Given the description of an element on the screen output the (x, y) to click on. 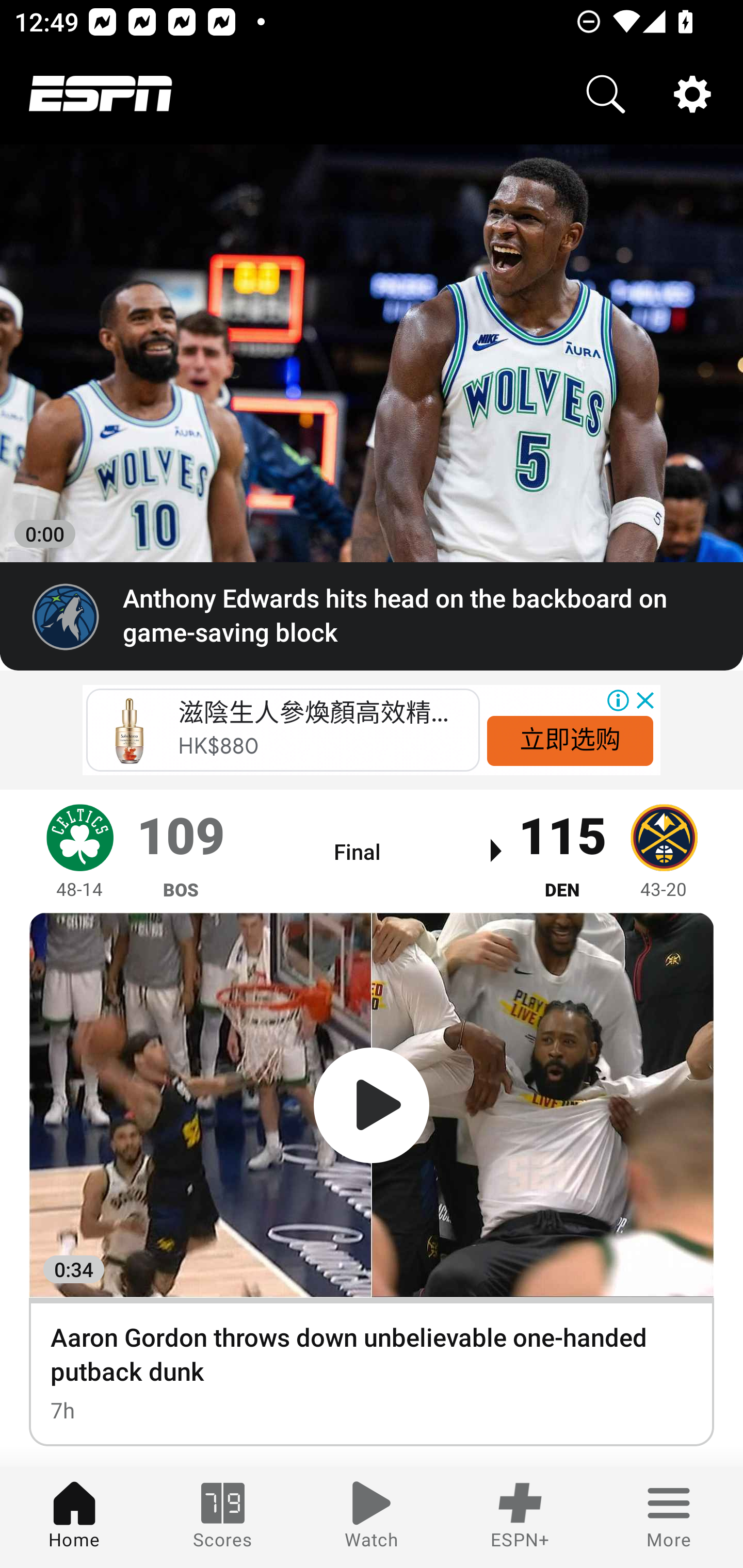
Search (605, 93)
Settings (692, 93)
滋陰生人參煥顏高效精… (312, 713)
立即选购 (570, 740)
HK$880 (218, 746)
Scores (222, 1517)
Watch (371, 1517)
ESPN+ (519, 1517)
More (668, 1517)
